Given the description of an element on the screen output the (x, y) to click on. 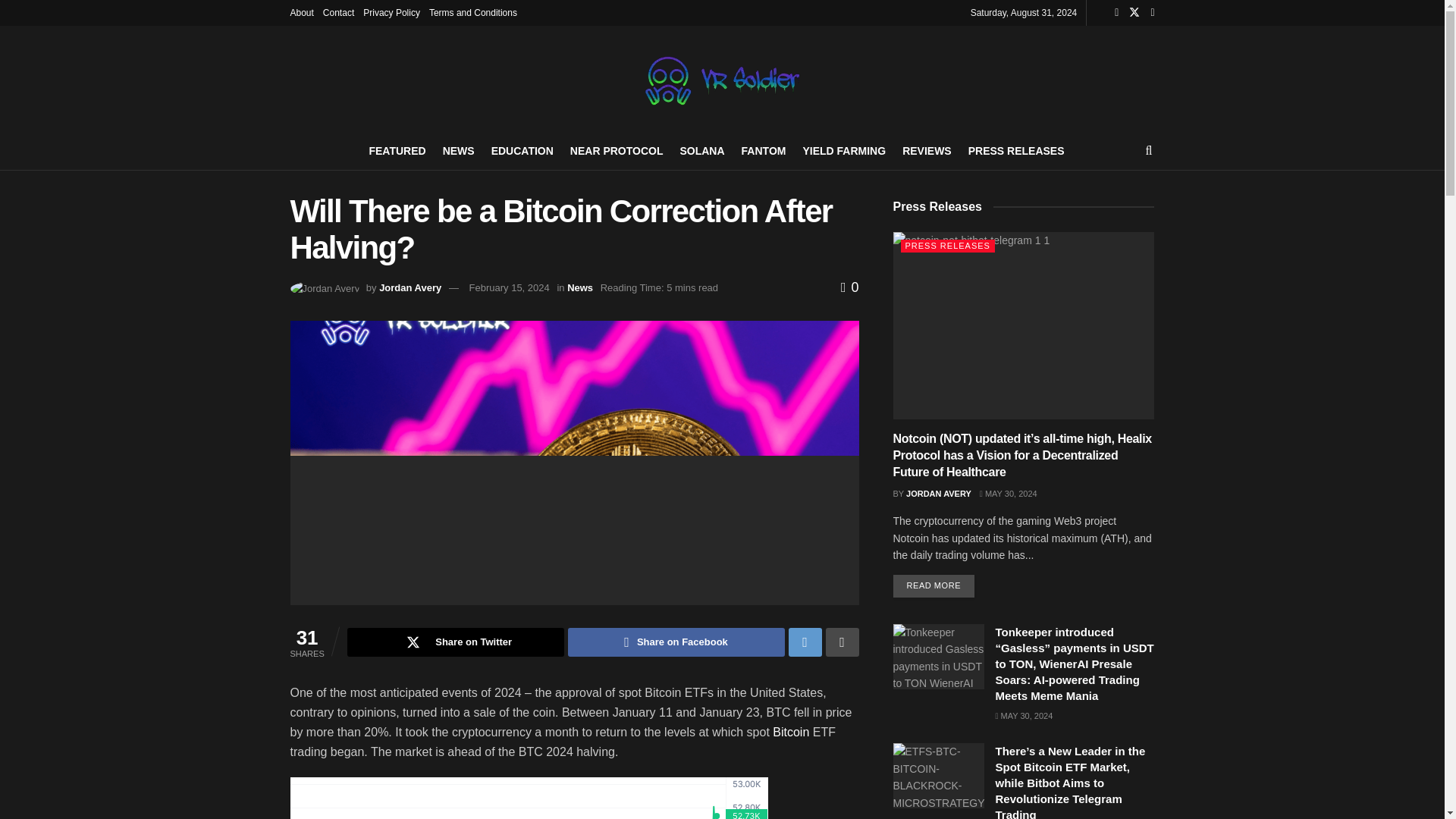
Contact (338, 12)
February 15, 2024 (509, 287)
0 (850, 287)
Privacy Policy (391, 12)
YIELD FARMING (843, 150)
NEAR PROTOCOL (616, 150)
NEWS (458, 150)
ETFS-BTC-BITCOIN-BLACKROCK-MICROSTRATEGY 1  The VR Soldier (938, 775)
About (301, 12)
SOLANA (701, 150)
